Given the description of an element on the screen output the (x, y) to click on. 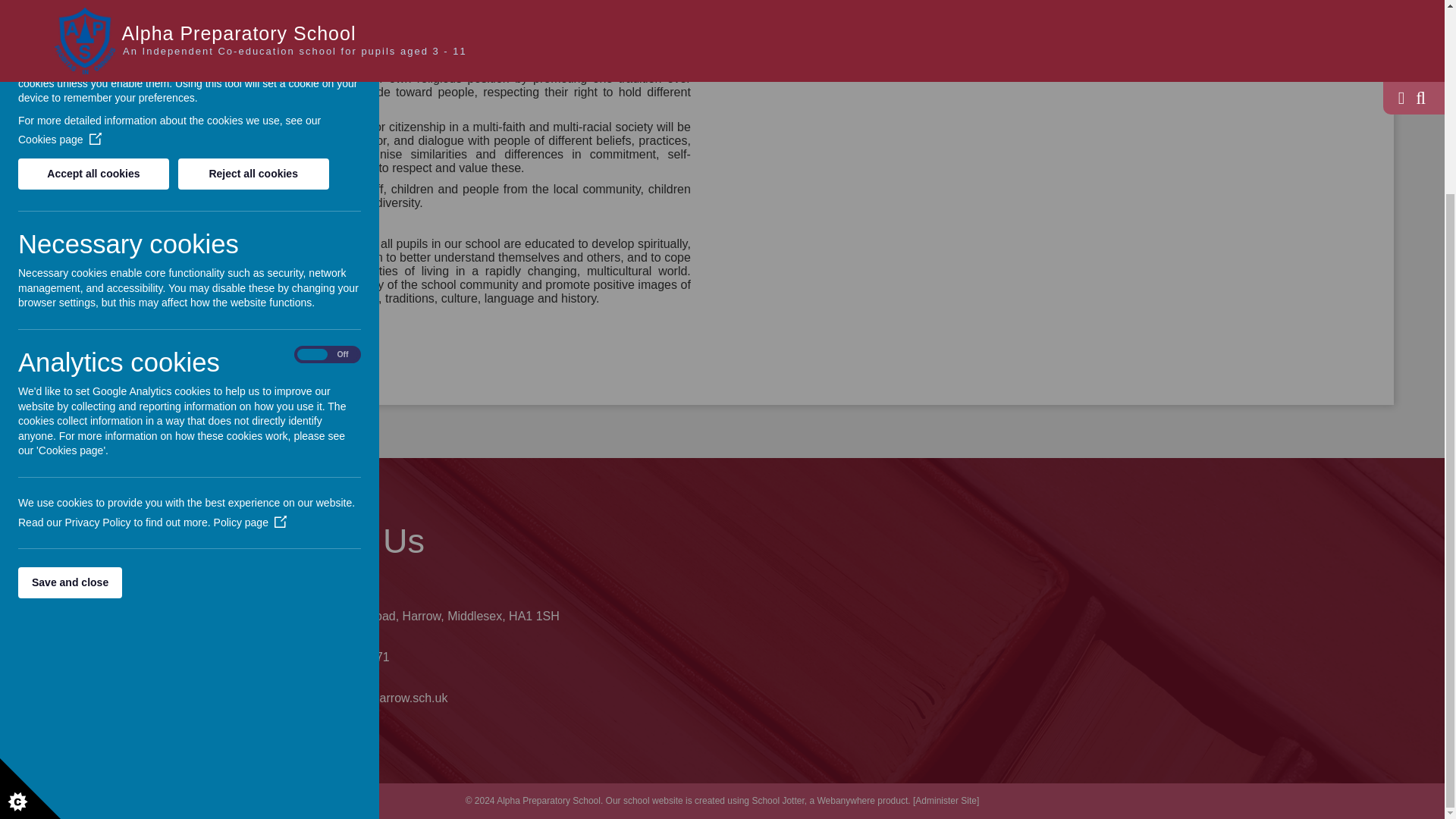
on (327, 111)
Cookie Control Icon (30, 545)
